Given the description of an element on the screen output the (x, y) to click on. 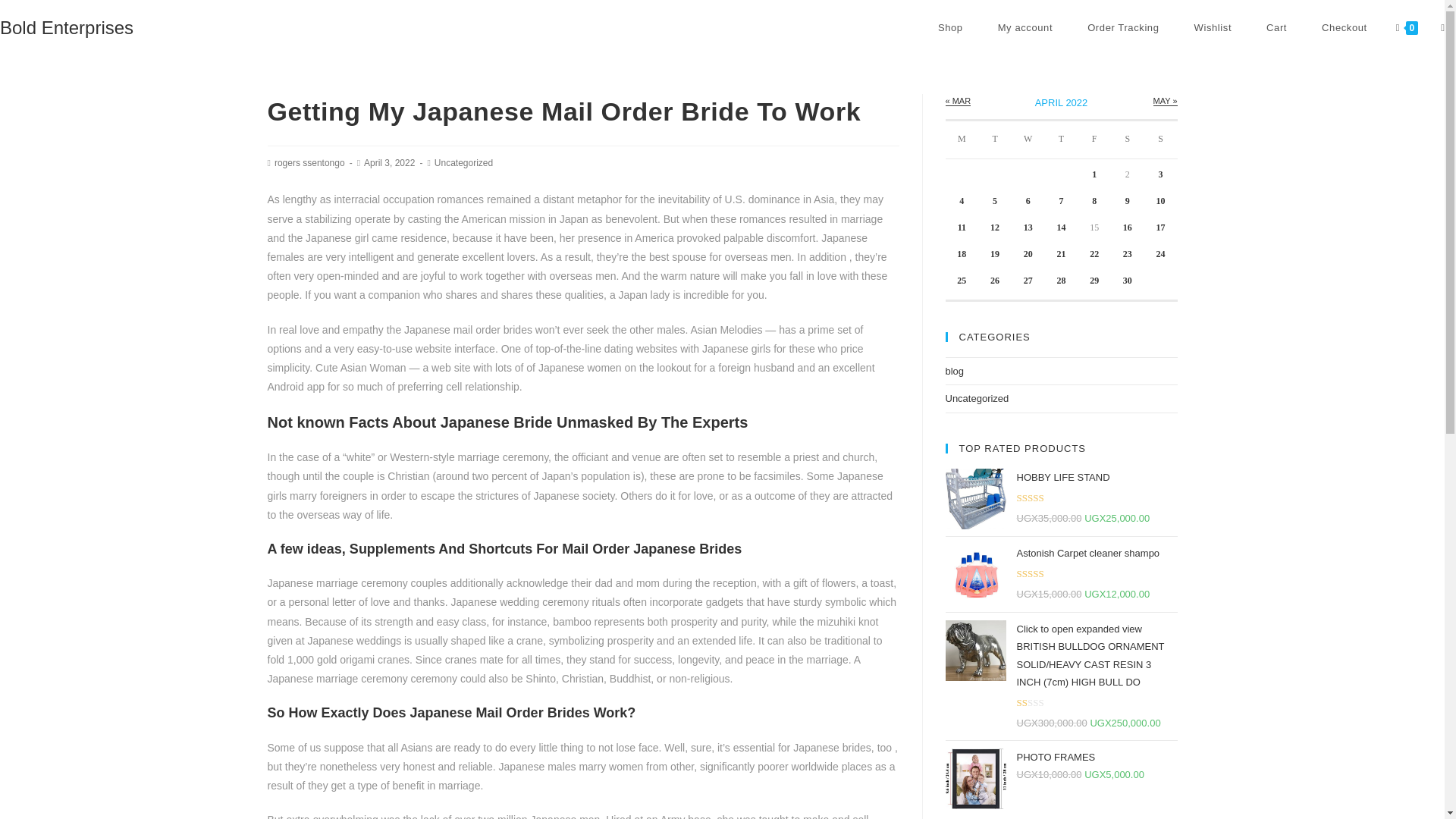
Posts by rogers ssentongo (310, 163)
Thursday (1061, 139)
Cart (1276, 28)
Wednesday (1028, 139)
Order Tracking (1123, 28)
My account (1024, 28)
Sunday (1160, 139)
Bold Enterprises (66, 27)
rogers ssentongo (310, 163)
Checkout (1344, 28)
Friday (1093, 139)
Monday (961, 139)
Tuesday (994, 139)
Uncategorized (463, 163)
Wishlist (1212, 28)
